Given the description of an element on the screen output the (x, y) to click on. 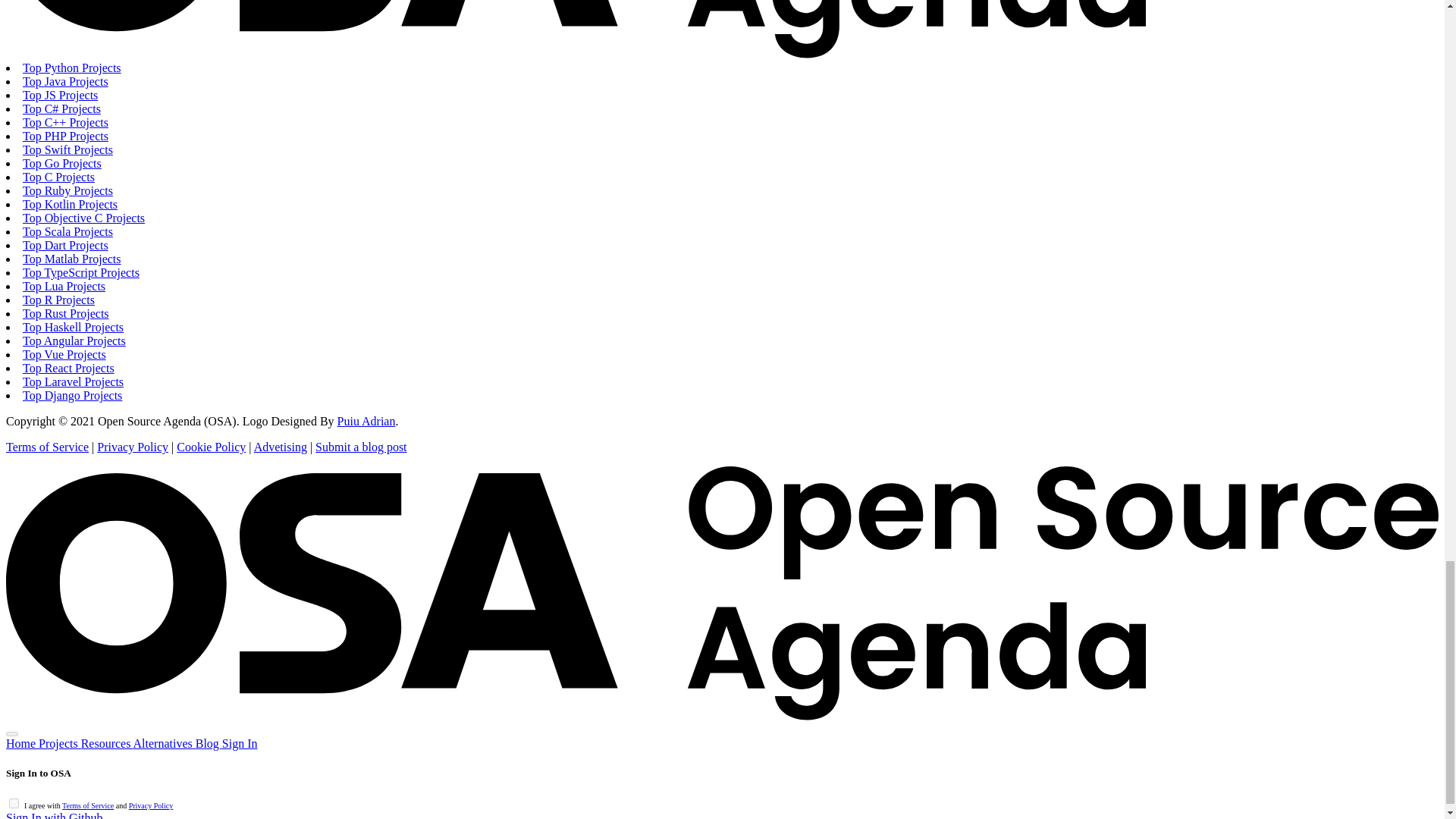
Top Python Projects (71, 67)
yes (13, 803)
Top Go Projects (62, 163)
Top Swift Projects (68, 149)
Top JS Projects (60, 94)
Top Java Projects (65, 81)
Top PHP Projects (65, 135)
